Given the description of an element on the screen output the (x, y) to click on. 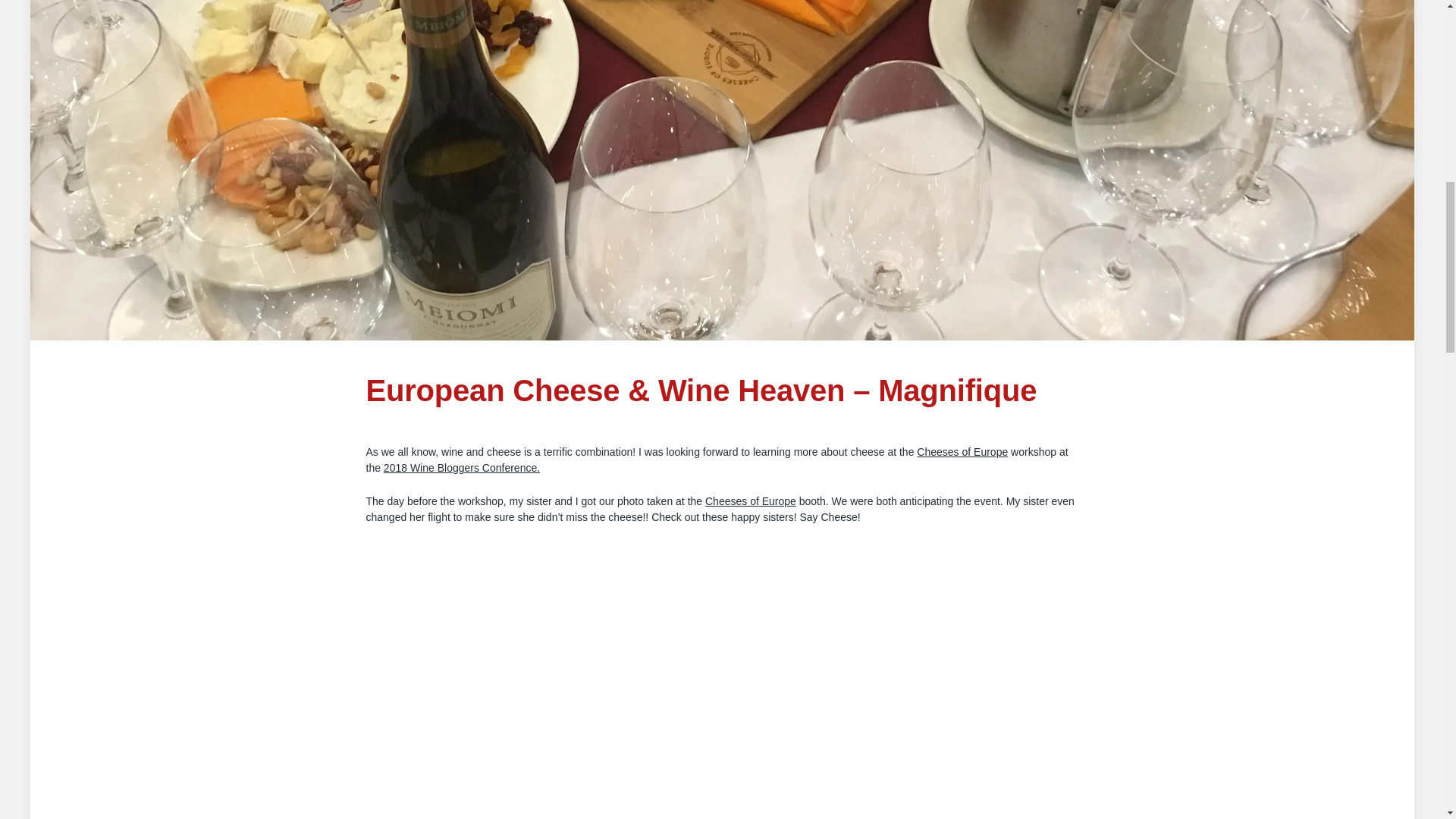
Cheeses of Europe (962, 451)
Cheeses of Europe (750, 500)
2018 Wine Bloggers Conference. (462, 467)
